Given the description of an element on the screen output the (x, y) to click on. 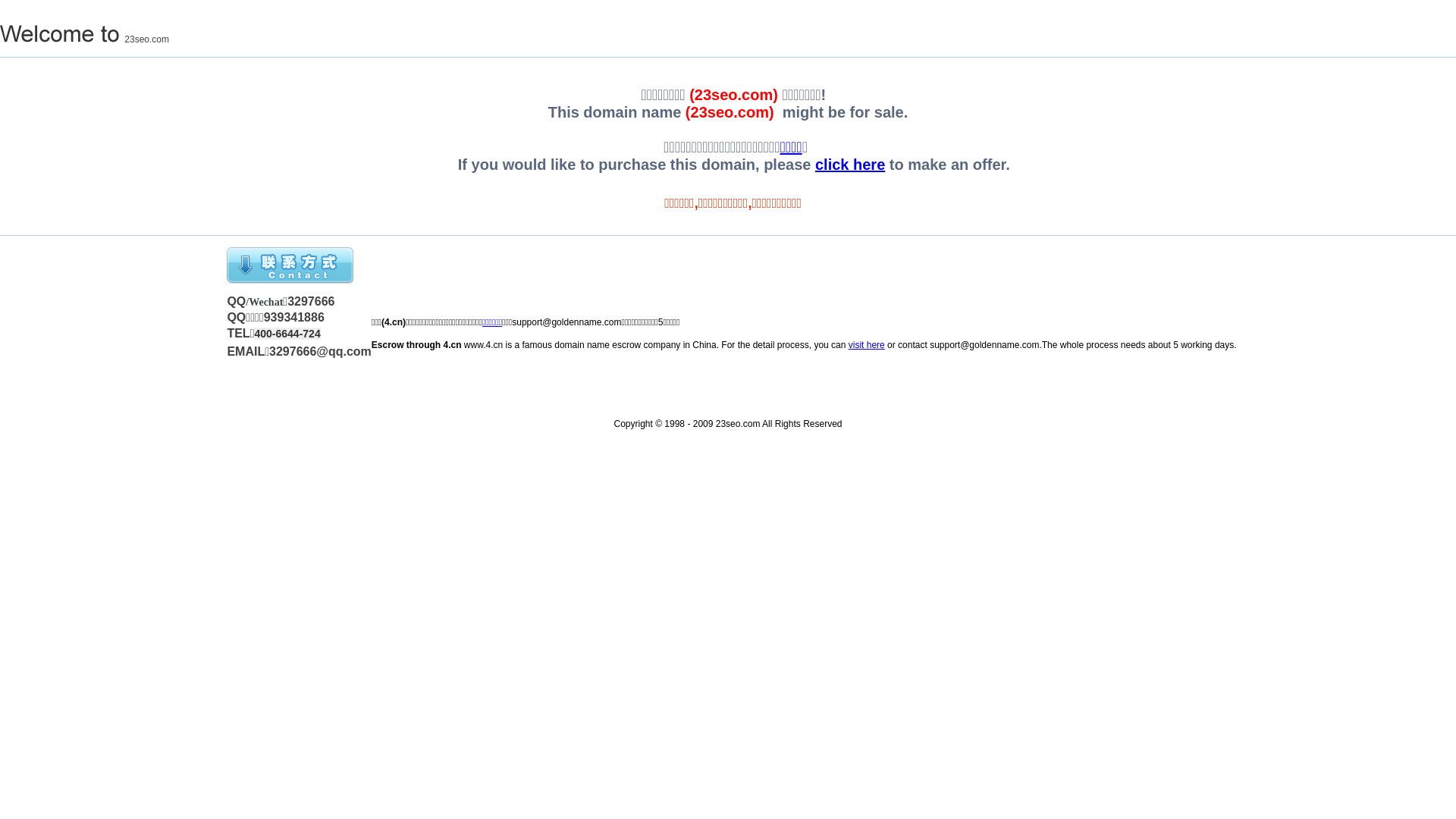
visit here Element type: text (866, 344)
click here Element type: text (849, 164)
